Given the description of an element on the screen output the (x, y) to click on. 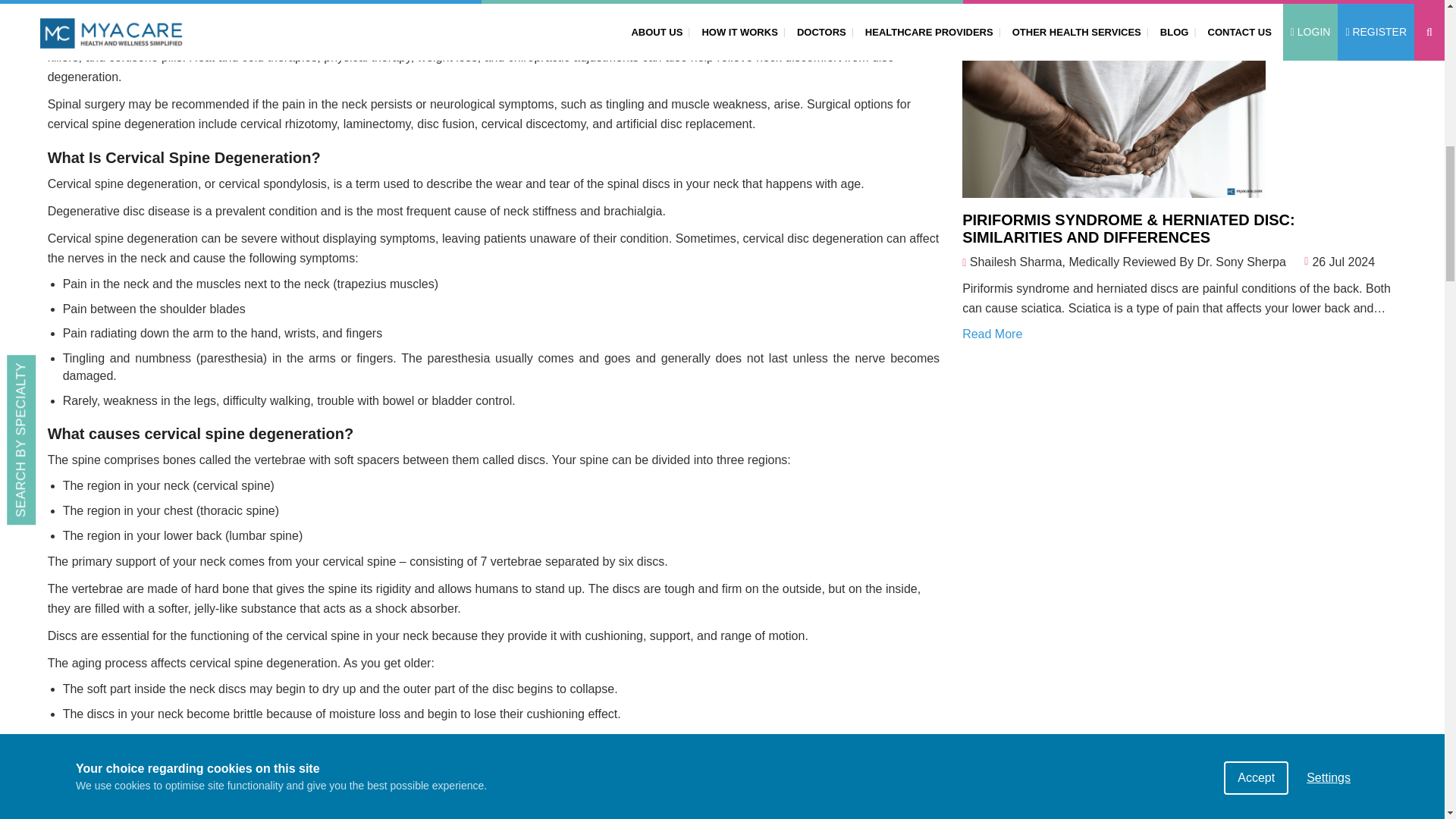
Settings (1328, 12)
Shailesh Sharma, Medically Reviewed By Dr. Sony Sherpa (1127, 261)
Accept (1256, 24)
